Given the description of an element on the screen output the (x, y) to click on. 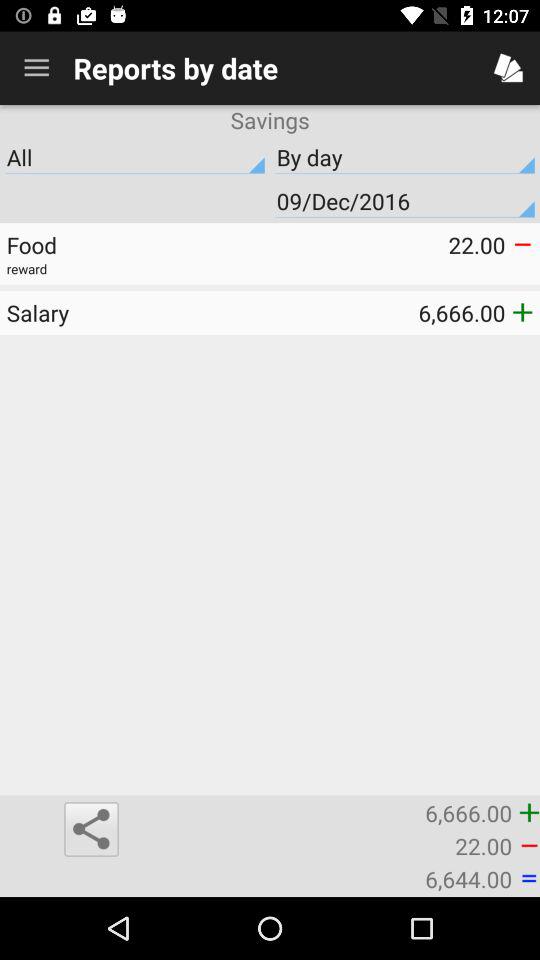
tap the icon above savings item (36, 68)
